Given the description of an element on the screen output the (x, y) to click on. 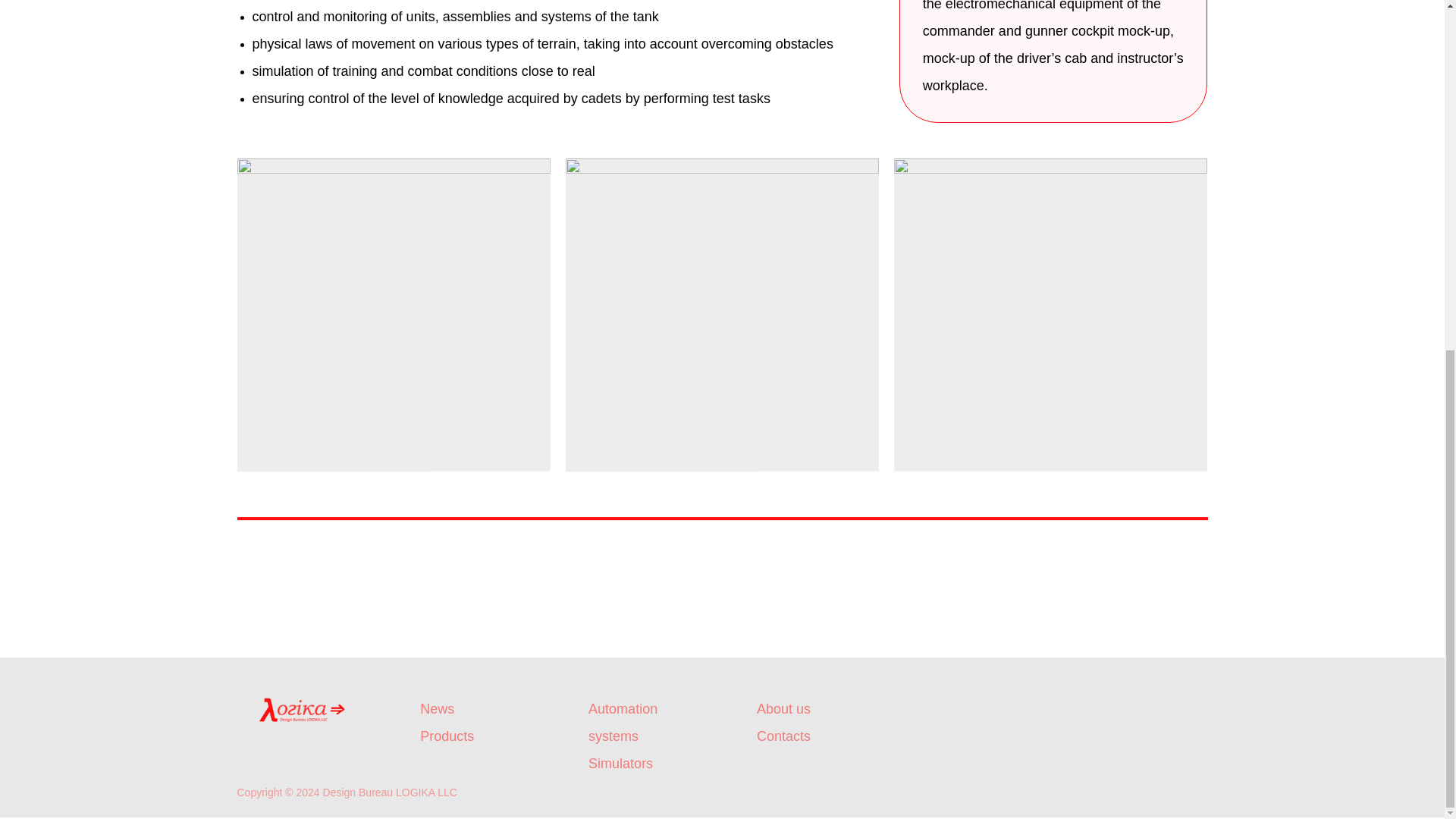
News (437, 708)
Contacts (783, 735)
Automation systems (623, 722)
Products (447, 735)
Simulators (620, 763)
About us (783, 708)
